Given the description of an element on the screen output the (x, y) to click on. 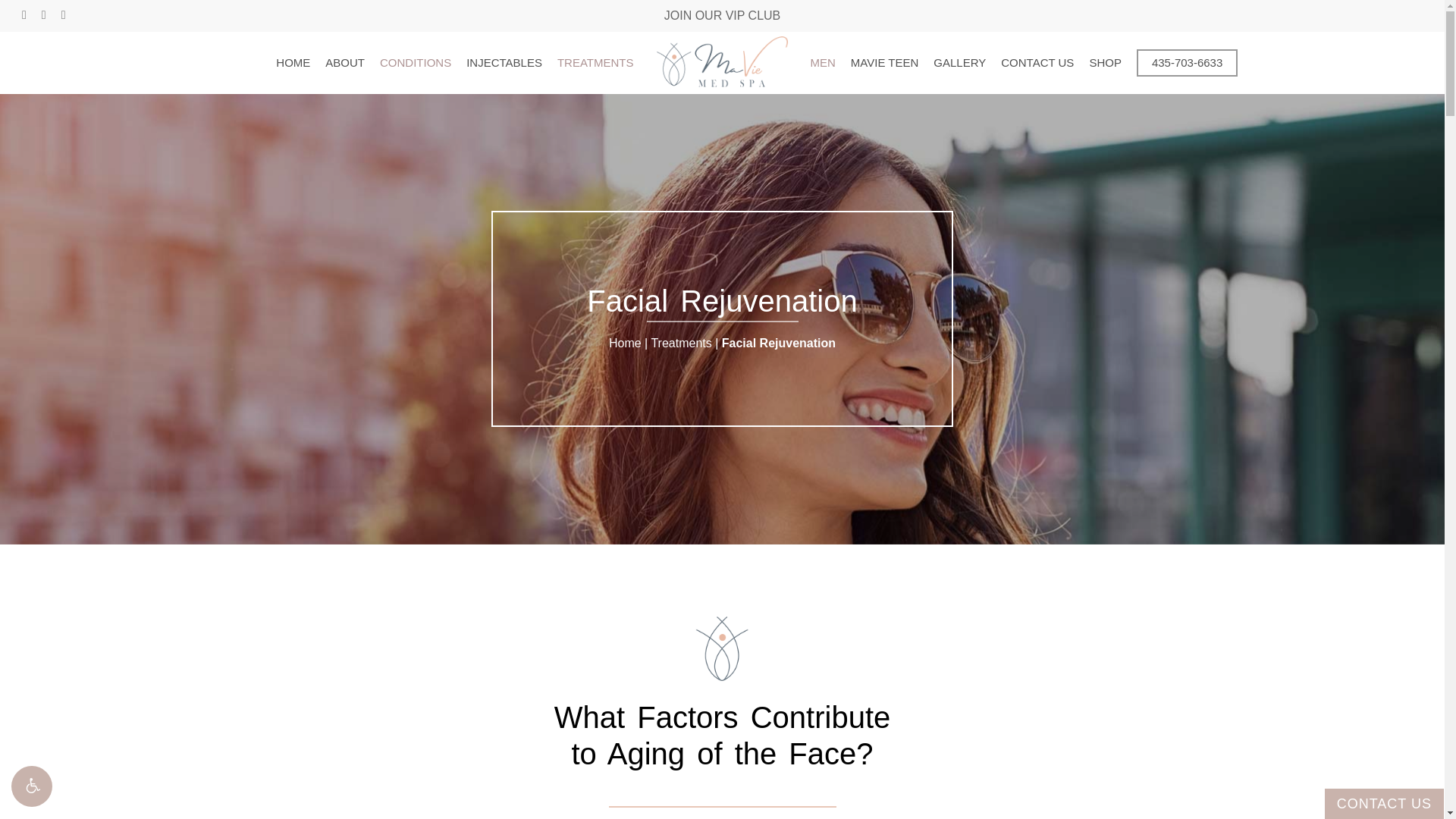
CONDITIONS (415, 62)
HOME (292, 62)
ABOUT (344, 62)
JOIN OUR VIP CLUB (721, 15)
